Given the description of an element on the screen output the (x, y) to click on. 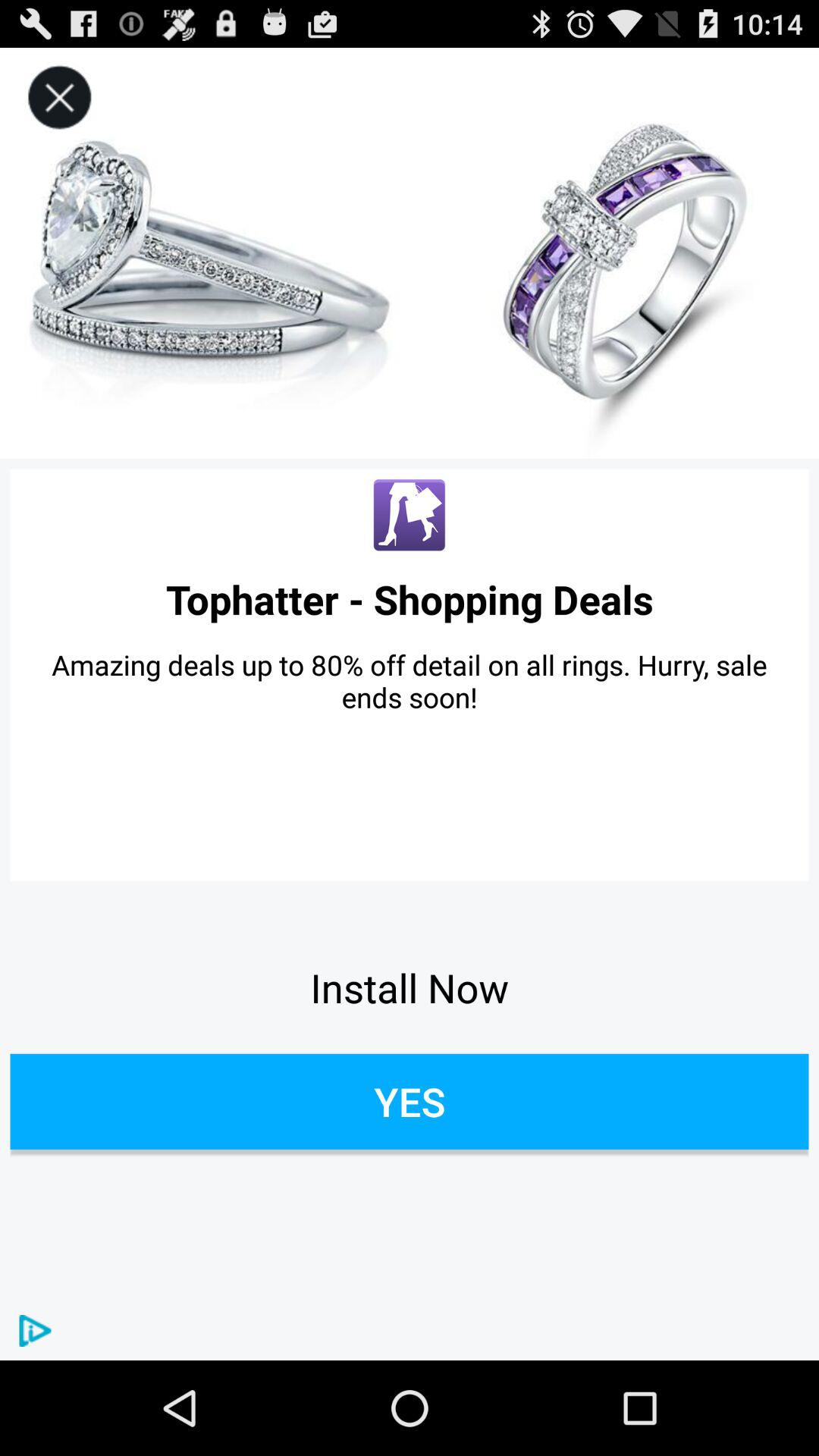
turn on the icon above tophatter - shopping deals icon (409, 515)
